Given the description of an element on the screen output the (x, y) to click on. 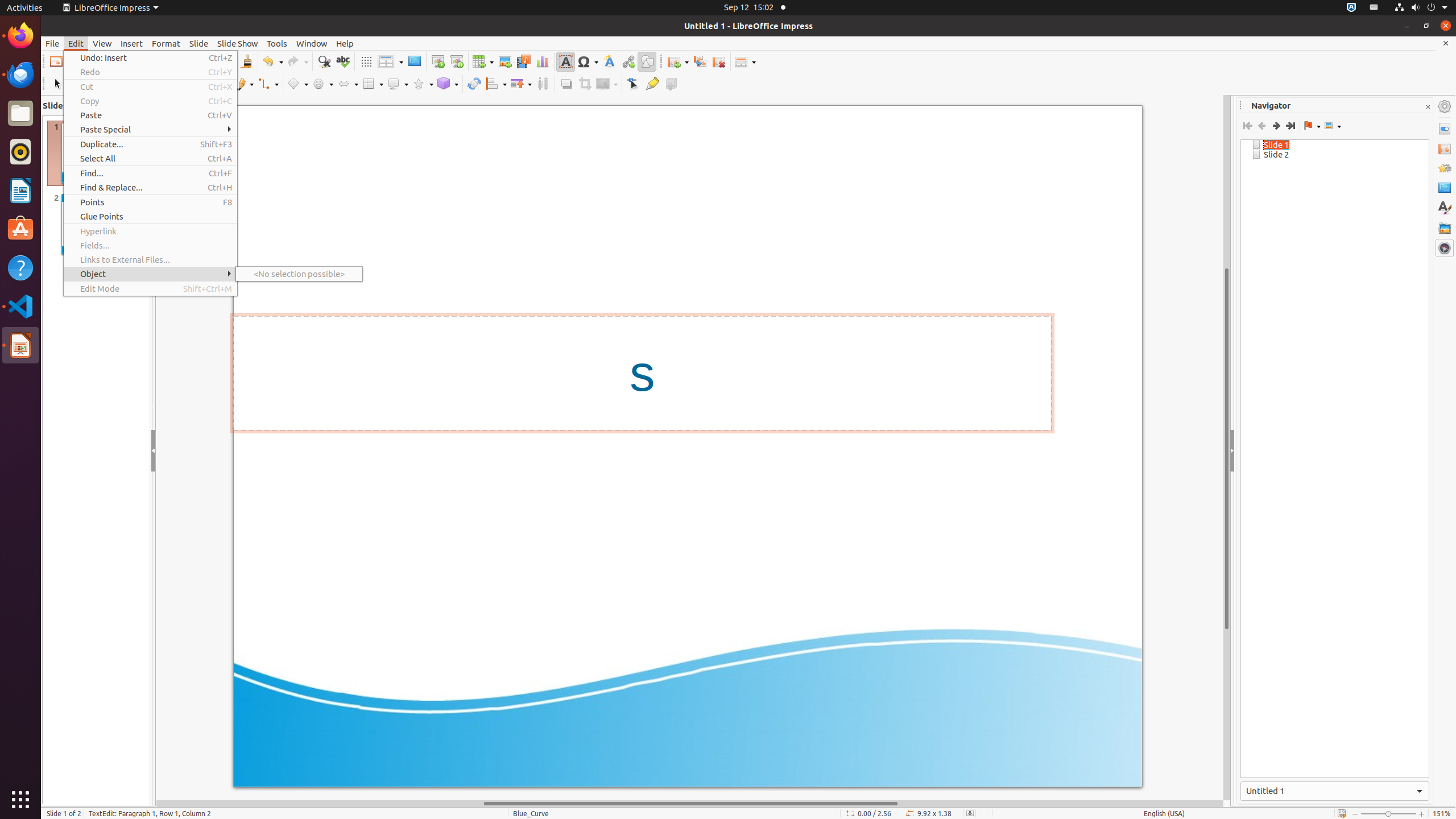
Insert Element type: menu (131, 43)
Redo Element type: menu-item (150, 71)
Animation Element type: radio-button (1444, 168)
Cut Element type: menu-item (150, 86)
